Given the description of an element on the screen output the (x, y) to click on. 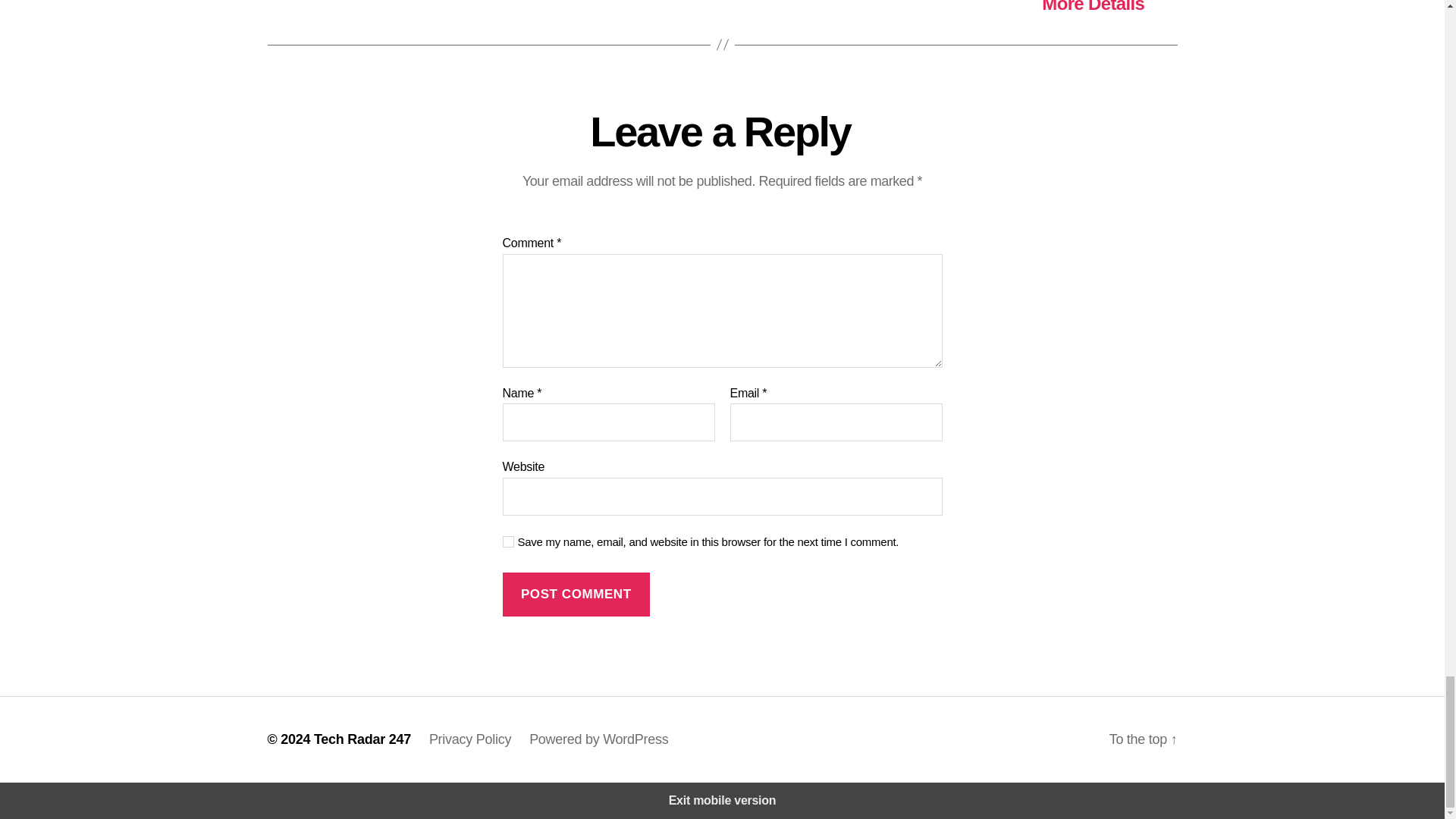
Powered by WordPress (598, 739)
Post Comment (575, 594)
Tech Radar 247 (362, 739)
yes (507, 541)
Privacy Policy (470, 739)
Post Comment (575, 594)
